Given the description of an element on the screen output the (x, y) to click on. 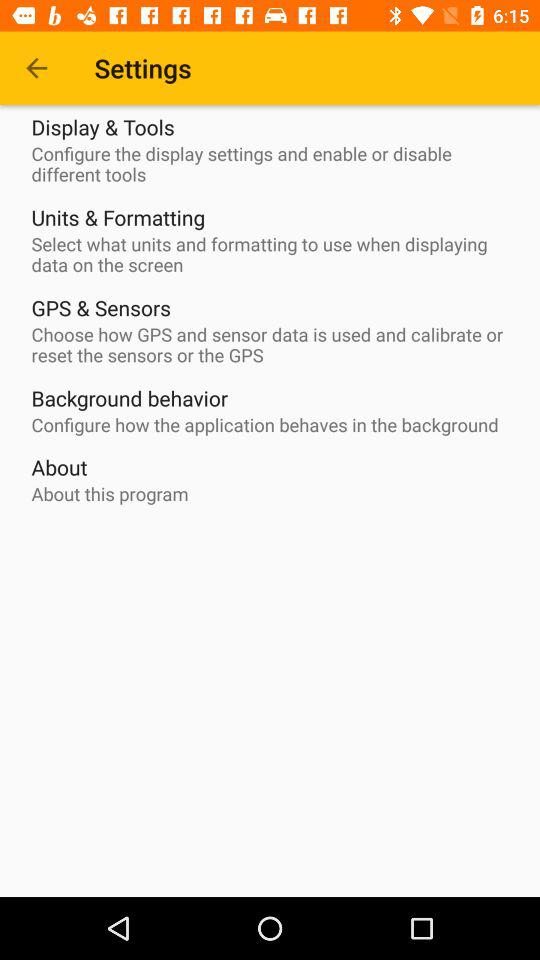
launch item below the gps & sensors icon (275, 345)
